Given the description of an element on the screen output the (x, y) to click on. 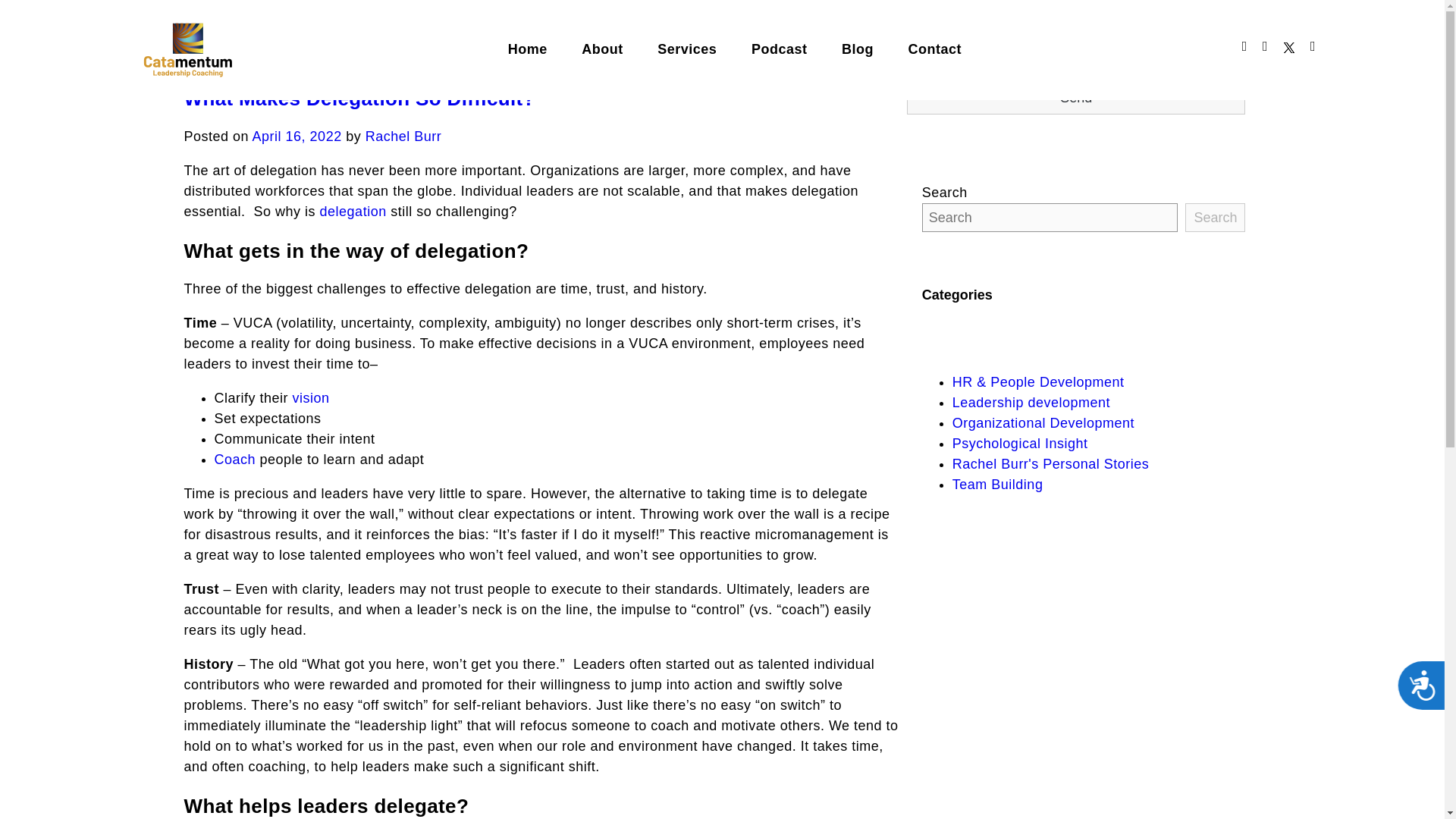
delegation (353, 211)
About (616, 48)
Services (702, 48)
Rachel Burr (403, 136)
Home (543, 48)
Coach (235, 459)
vision (311, 397)
Podcast (794, 48)
Contact (949, 48)
April 16, 2022 (296, 136)
What Makes Delegation So Difficult? (358, 97)
Send (1076, 97)
Blog (872, 48)
